Given the description of an element on the screen output the (x, y) to click on. 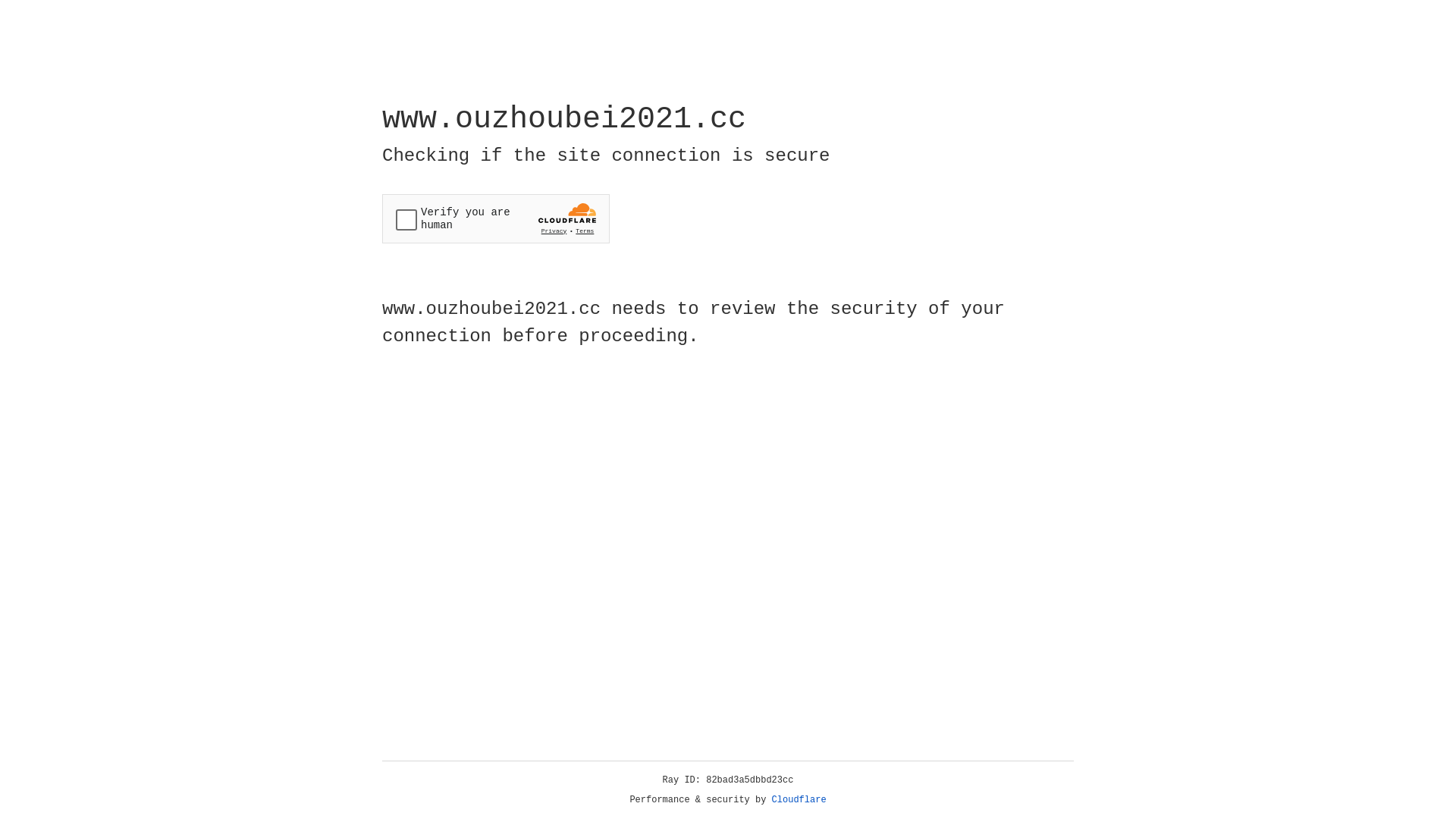
Cloudflare Element type: text (798, 799)
Widget containing a Cloudflare security challenge Element type: hover (495, 218)
